Given the description of an element on the screen output the (x, y) to click on. 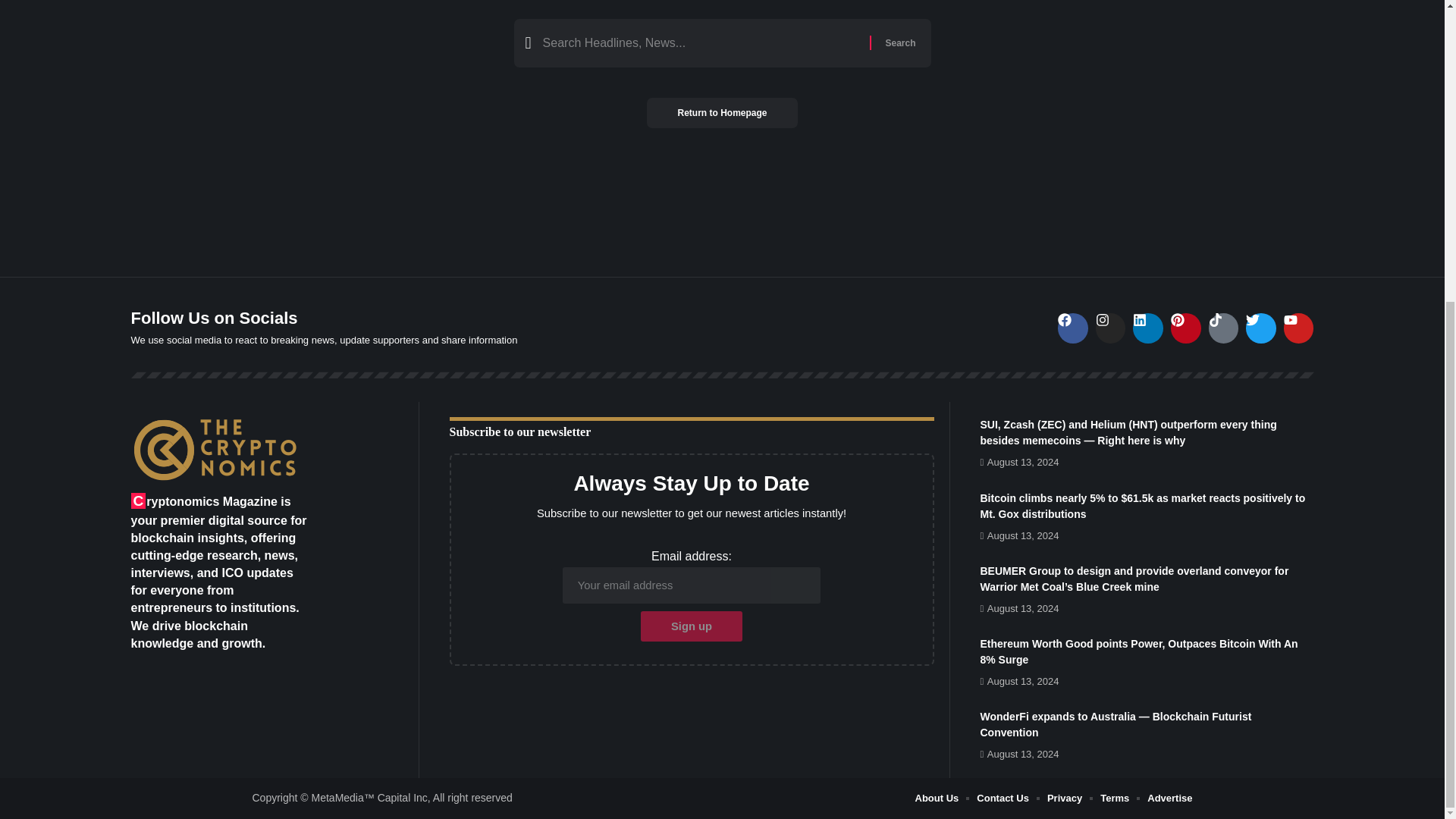
Search (899, 42)
Return to Homepage (721, 112)
Sign up (691, 625)
Search (899, 42)
